Given the description of an element on the screen output the (x, y) to click on. 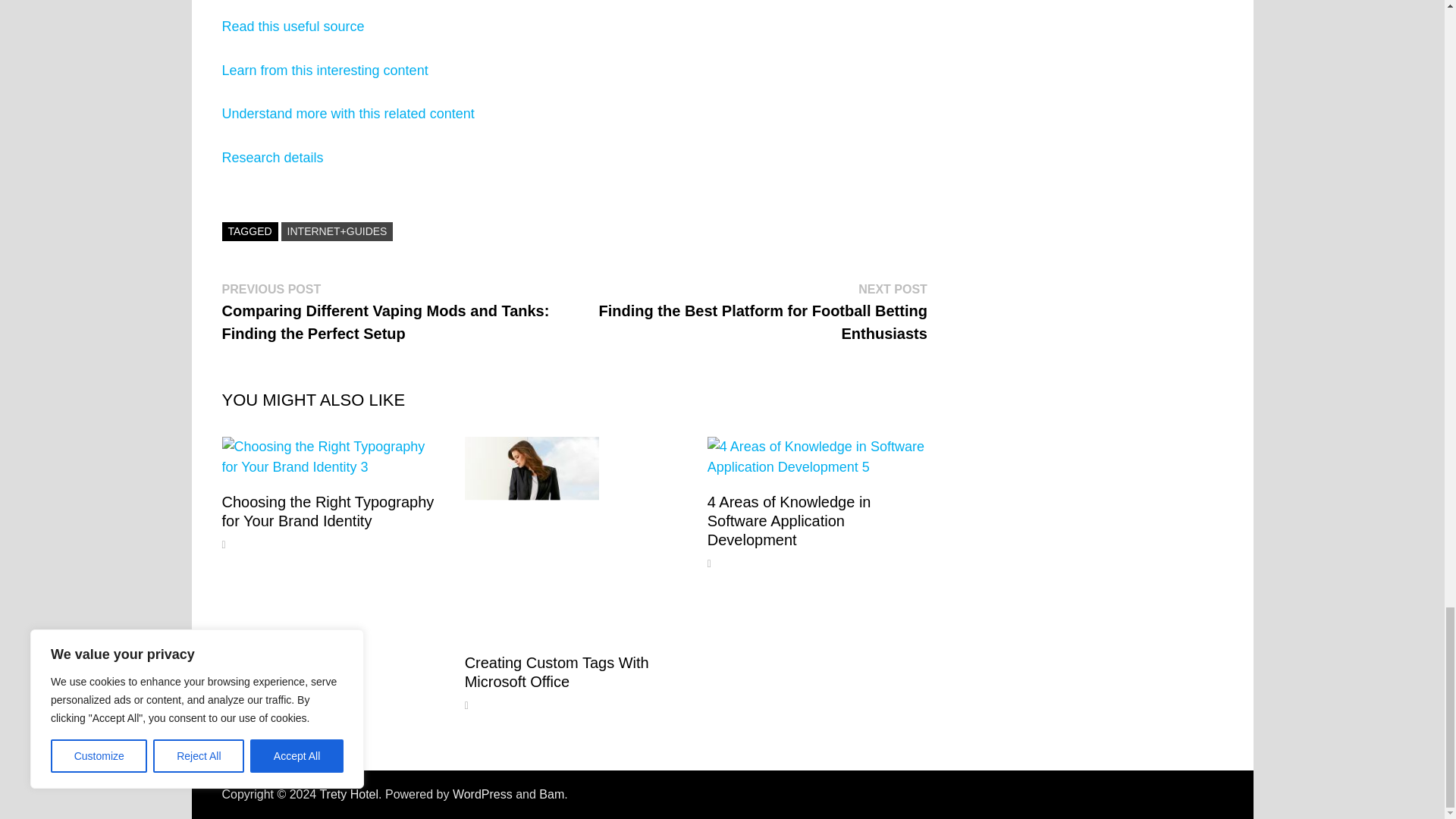
Trety Hotel (348, 793)
4 Areas of Knowledge in Software Application Development (788, 520)
Choosing the Right Typography for Your Brand Identity (327, 511)
Creating Custom Tags With Microsoft Office (556, 672)
Understand more with this related content (347, 113)
Read this useful source (292, 26)
Research details (272, 157)
Choosing the Right Typography for Your Brand Identity (327, 511)
Learn from this interesting content (324, 70)
